Given the description of an element on the screen output the (x, y) to click on. 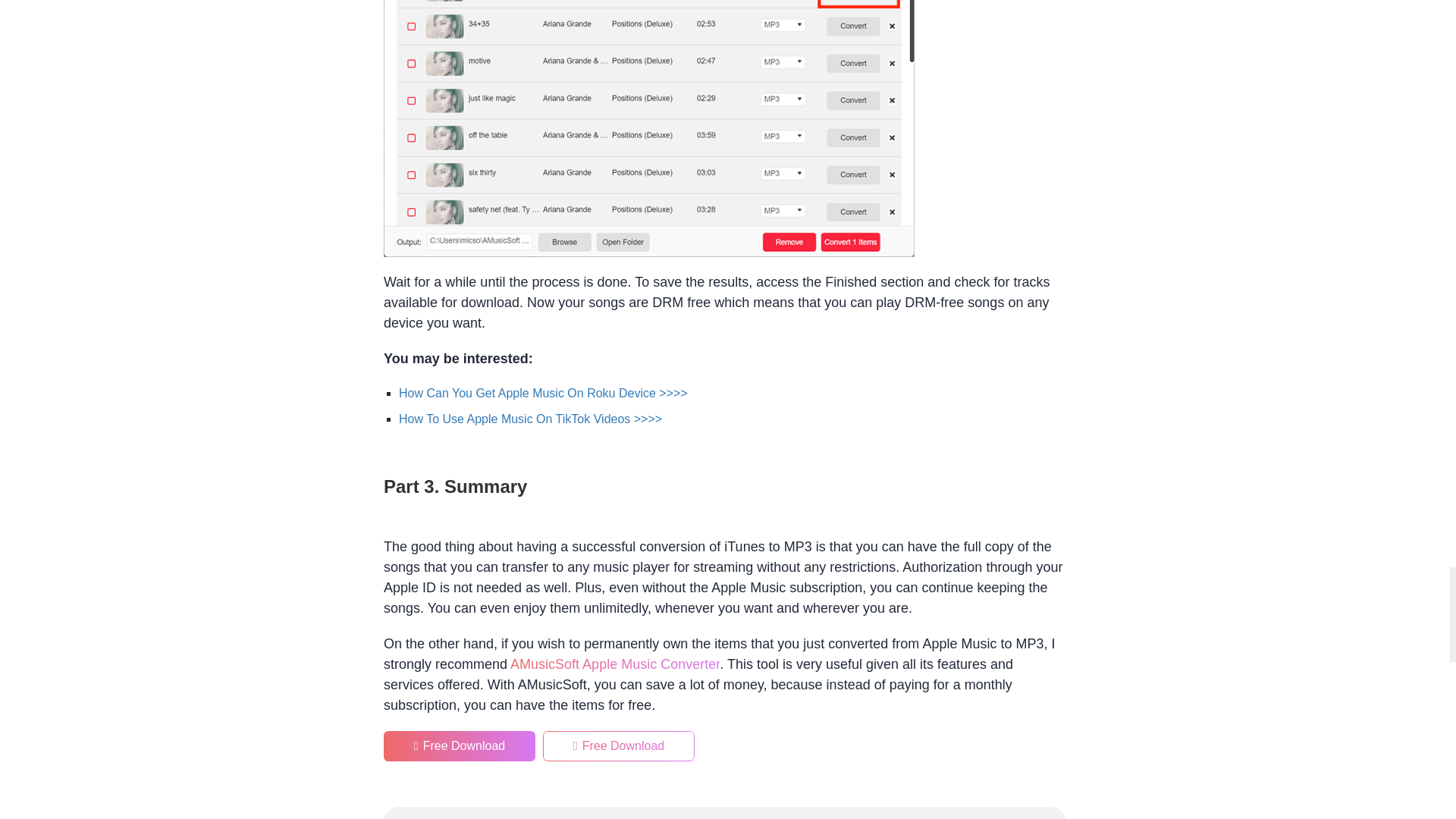
AMusicSoft Apple Music Converter (615, 663)
Free Download (618, 746)
Free Download (459, 746)
Free Download (618, 746)
Free Download (459, 746)
Amusicsoft Apple Music Converter Download (615, 663)
